Given the description of an element on the screen output the (x, y) to click on. 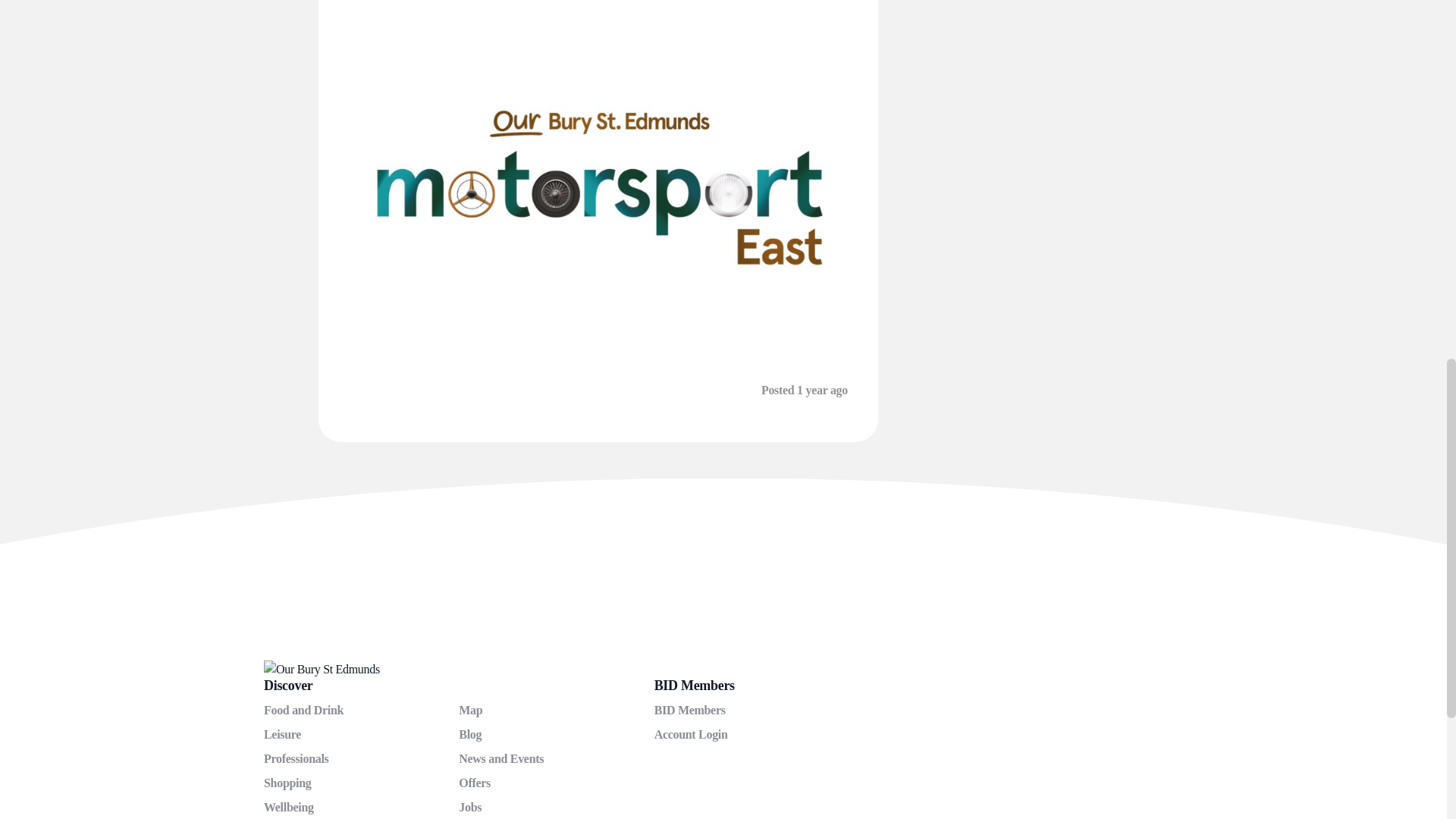
Food and Drink (303, 704)
Blog (469, 728)
Leisure (282, 728)
Map (469, 704)
BID Members (689, 704)
News and Events (500, 753)
Professionals (296, 753)
Offers (474, 777)
Account Login (690, 728)
Wellbeing (288, 801)
